Given the description of an element on the screen output the (x, y) to click on. 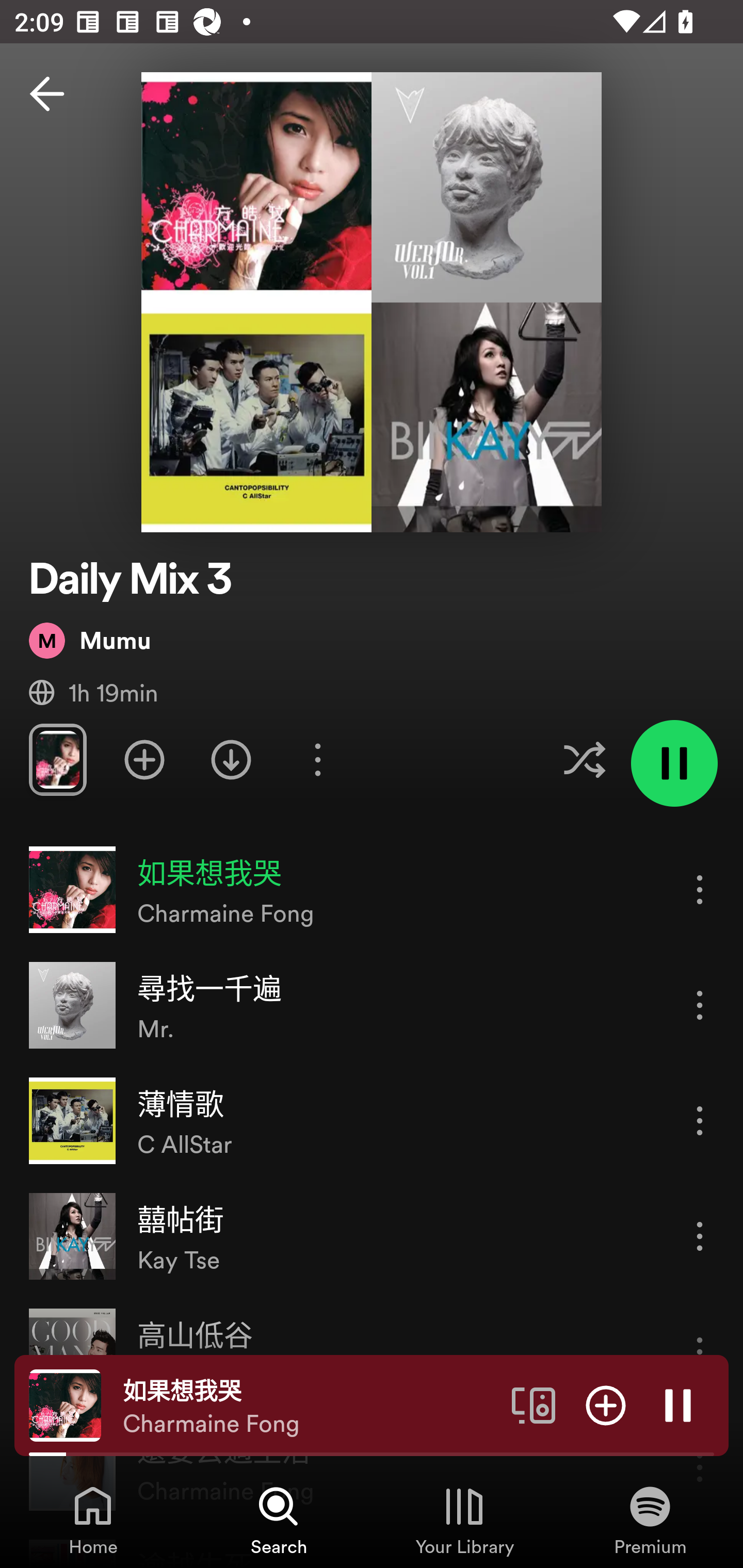
Back (46, 93)
Mumu (89, 640)
Swipe through previews of tracks in this playlist. (57, 759)
Add playlist to Your Library (144, 759)
Download (230, 759)
More options for playlist Daily Mix 3 (317, 759)
Enable shuffle for this playlist (583, 759)
Pause playlist (674, 763)
如果想我哭 Charmaine Fong More options for song 如果想我哭 (371, 889)
More options for song 如果想我哭 (699, 889)
尋找一千遍 Mr. More options for song 尋找一千遍 (371, 1005)
More options for song 尋找一千遍 (699, 1004)
薄情歌 C AllStar More options for song 薄情歌 (371, 1121)
More options for song 薄情歌 (699, 1120)
囍帖街 Kay Tse More options for song 囍帖街 (371, 1236)
More options for song 囍帖街 (699, 1236)
高山低谷 Phil Lam More options for song 高山低谷 (371, 1351)
如果想我哭 Charmaine Fong (309, 1405)
The cover art of the currently playing track (64, 1404)
